Given the description of an element on the screen output the (x, y) to click on. 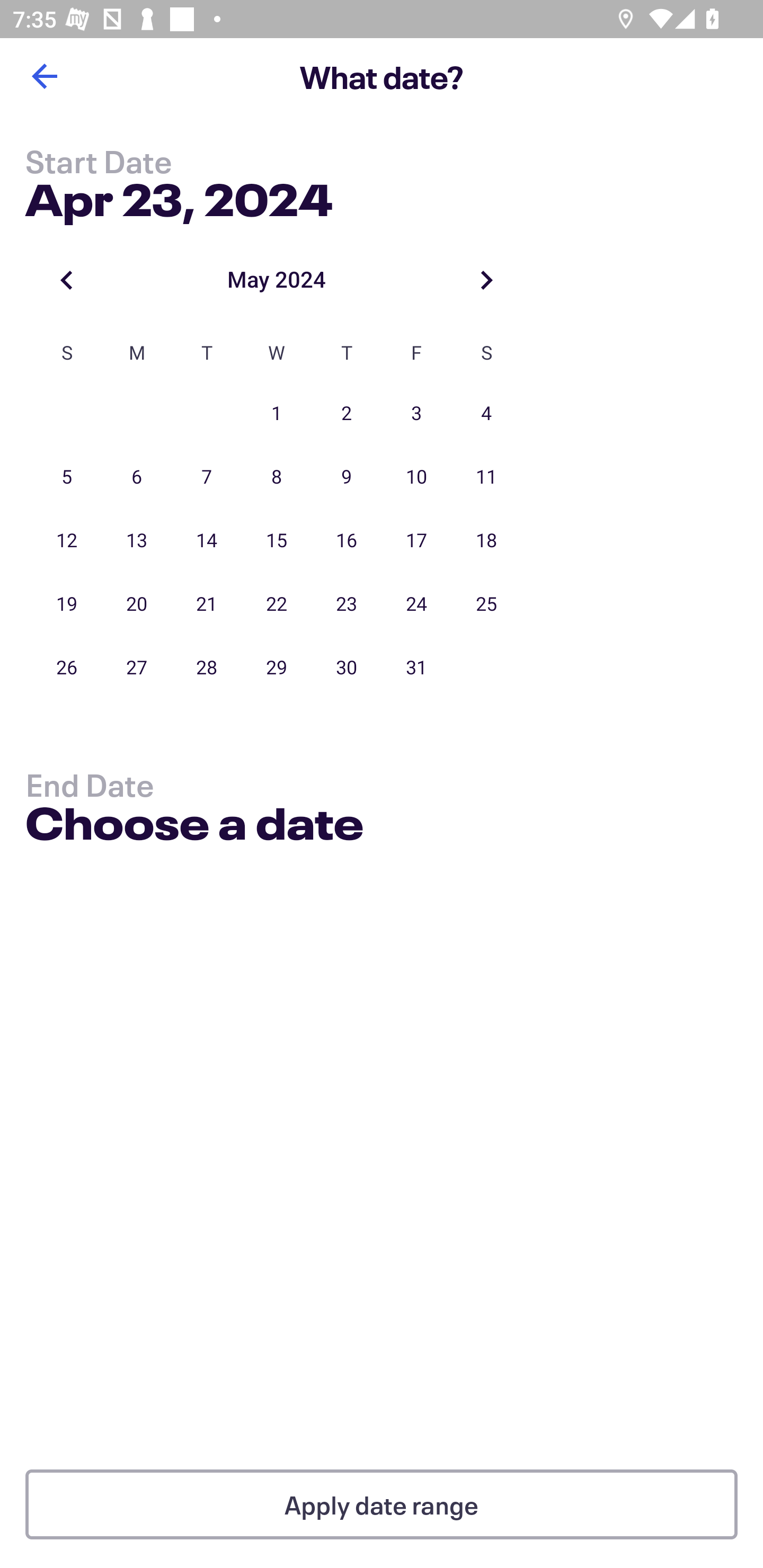
Back button (44, 75)
Apr 23, 2024 (178, 195)
Previous month (66, 279)
Next month (486, 279)
1 01 May 2024 (276, 413)
2 02 May 2024 (346, 413)
3 03 May 2024 (416, 413)
4 04 May 2024 (486, 413)
5 05 May 2024 (66, 477)
6 06 May 2024 (136, 477)
7 07 May 2024 (206, 477)
8 08 May 2024 (276, 477)
9 09 May 2024 (346, 477)
10 10 May 2024 (416, 477)
11 11 May 2024 (486, 477)
12 12 May 2024 (66, 540)
13 13 May 2024 (136, 540)
14 14 May 2024 (206, 540)
15 15 May 2024 (276, 540)
16 16 May 2024 (346, 540)
17 17 May 2024 (416, 540)
18 18 May 2024 (486, 540)
19 19 May 2024 (66, 604)
20 20 May 2024 (136, 604)
21 21 May 2024 (206, 604)
22 22 May 2024 (276, 604)
23 23 May 2024 (346, 604)
24 24 May 2024 (416, 604)
25 25 May 2024 (486, 604)
26 26 May 2024 (66, 667)
27 27 May 2024 (136, 667)
28 28 May 2024 (206, 667)
29 29 May 2024 (276, 667)
30 30 May 2024 (346, 667)
31 31 May 2024 (416, 667)
Choose a date (194, 826)
Apply date range (381, 1504)
